Given the description of an element on the screen output the (x, y) to click on. 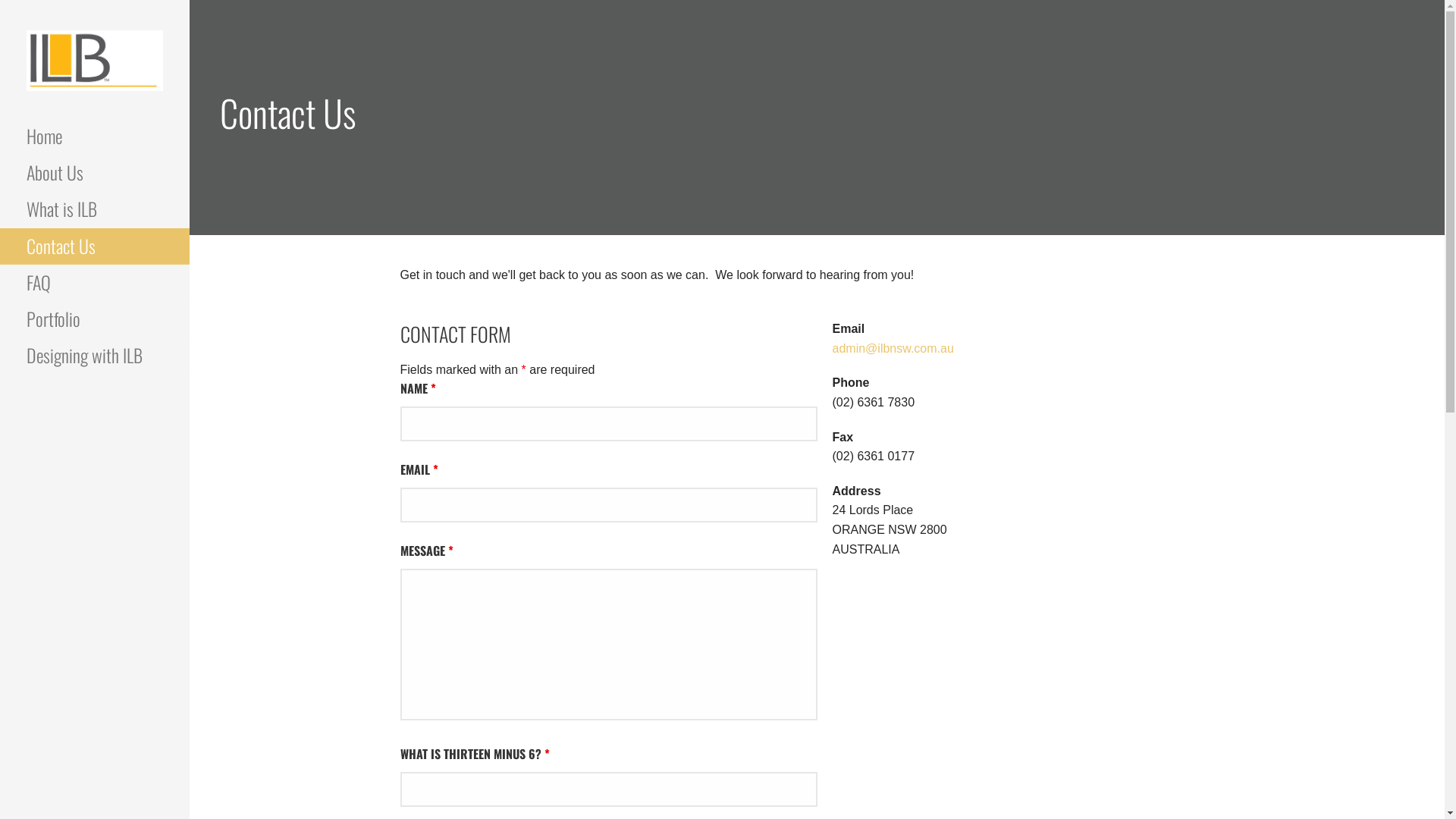
Skip to content Element type: text (189, 0)
Portfolio Element type: text (94, 319)
About Us Element type: text (94, 172)
What is ILB Element type: text (94, 209)
Home Element type: text (94, 136)
Contact Us Element type: text (94, 245)
FAQ Element type: text (94, 282)
admin@ilbnsw.com.au Element type: text (892, 348)
Designing with ILB Element type: text (94, 355)
